Given the description of an element on the screen output the (x, y) to click on. 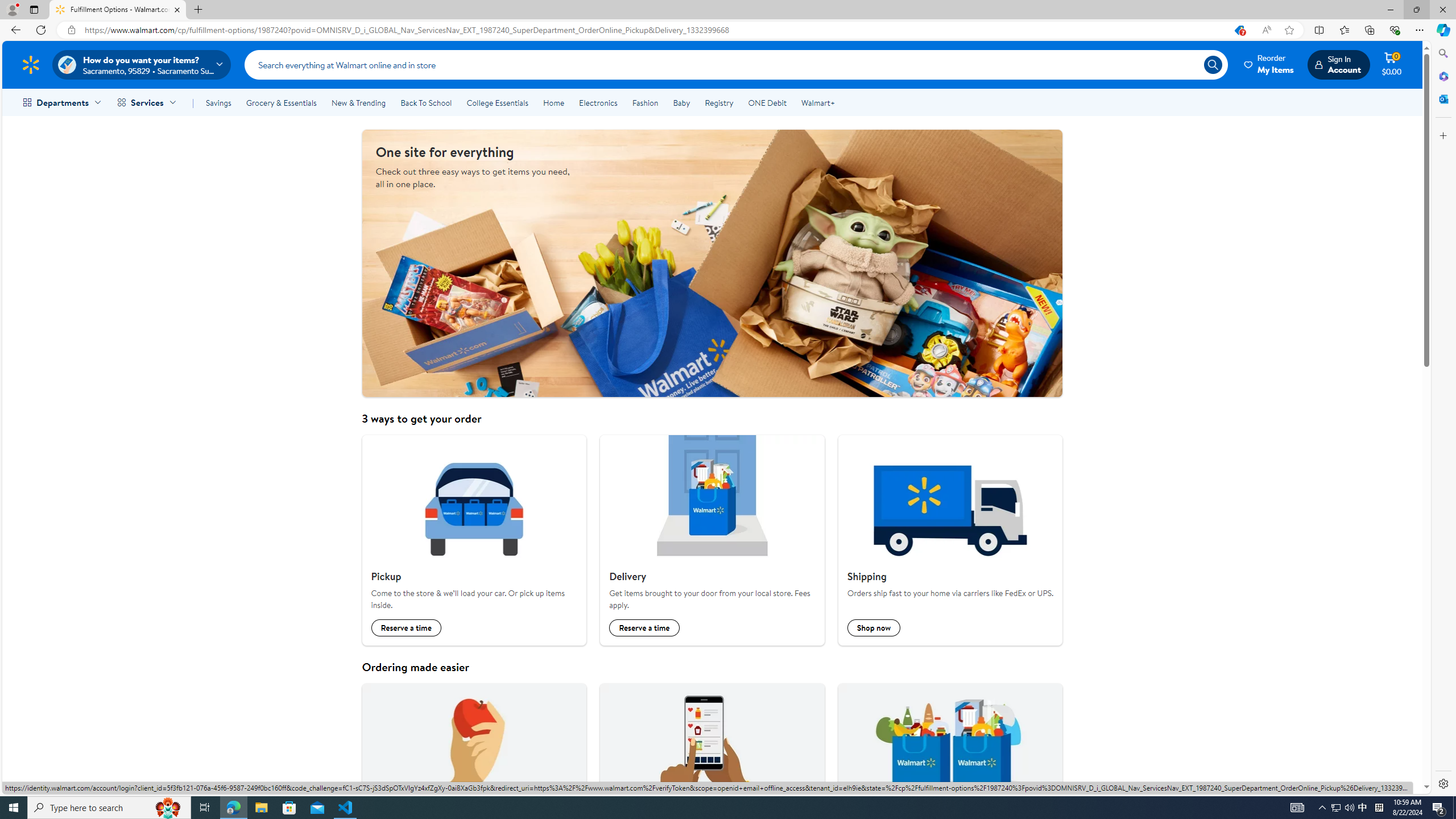
Back To School (425, 102)
Grocery & Essentials (280, 102)
Registry (718, 102)
Grocery & Essentials (280, 102)
